Given the description of an element on the screen output the (x, y) to click on. 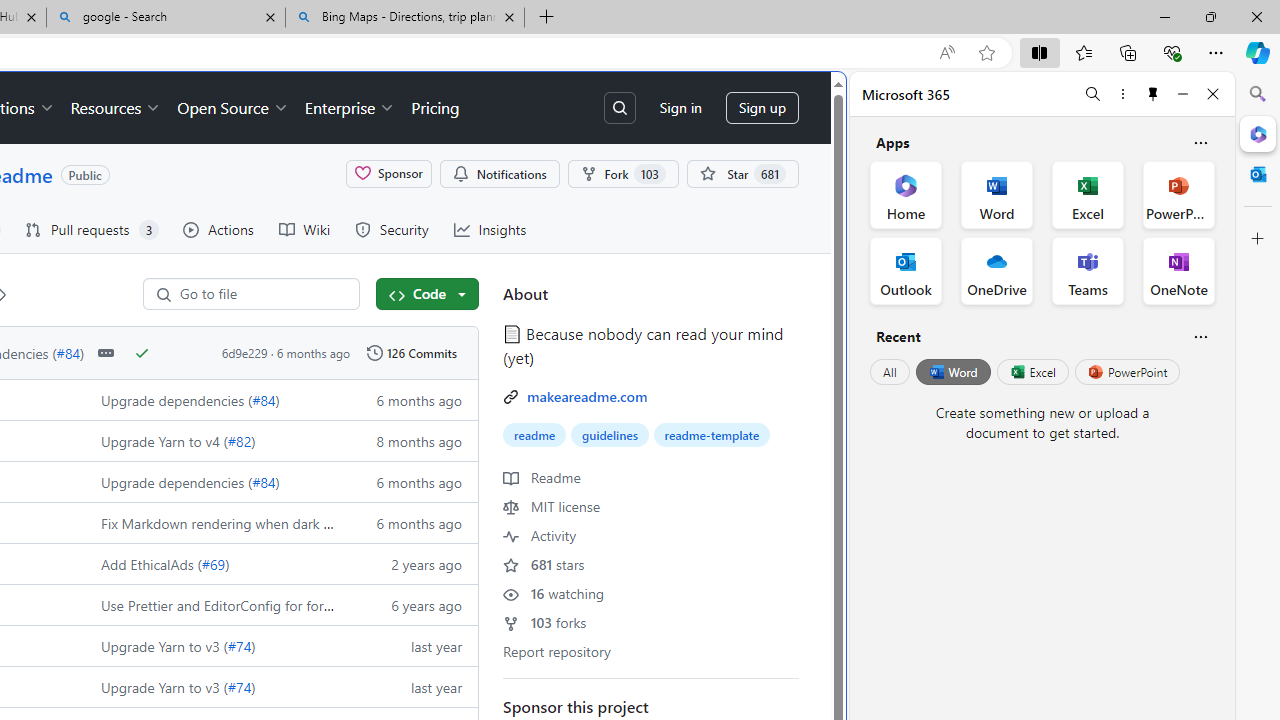
Upgrade Yarn to v3 ( (164, 686)
Open Source (232, 107)
PowerPoint Office App (1178, 194)
#82 (239, 440)
Upgrade Yarn to v4 (#82) (212, 439)
Word (952, 372)
Use Prettier and EditorConfig for formatting (236, 604)
Excel (1031, 372)
makeareadme.com (587, 396)
2 years ago (409, 562)
readme (535, 435)
Pull requests 3 (91, 229)
Report repository (556, 650)
